Given the description of an element on the screen output the (x, y) to click on. 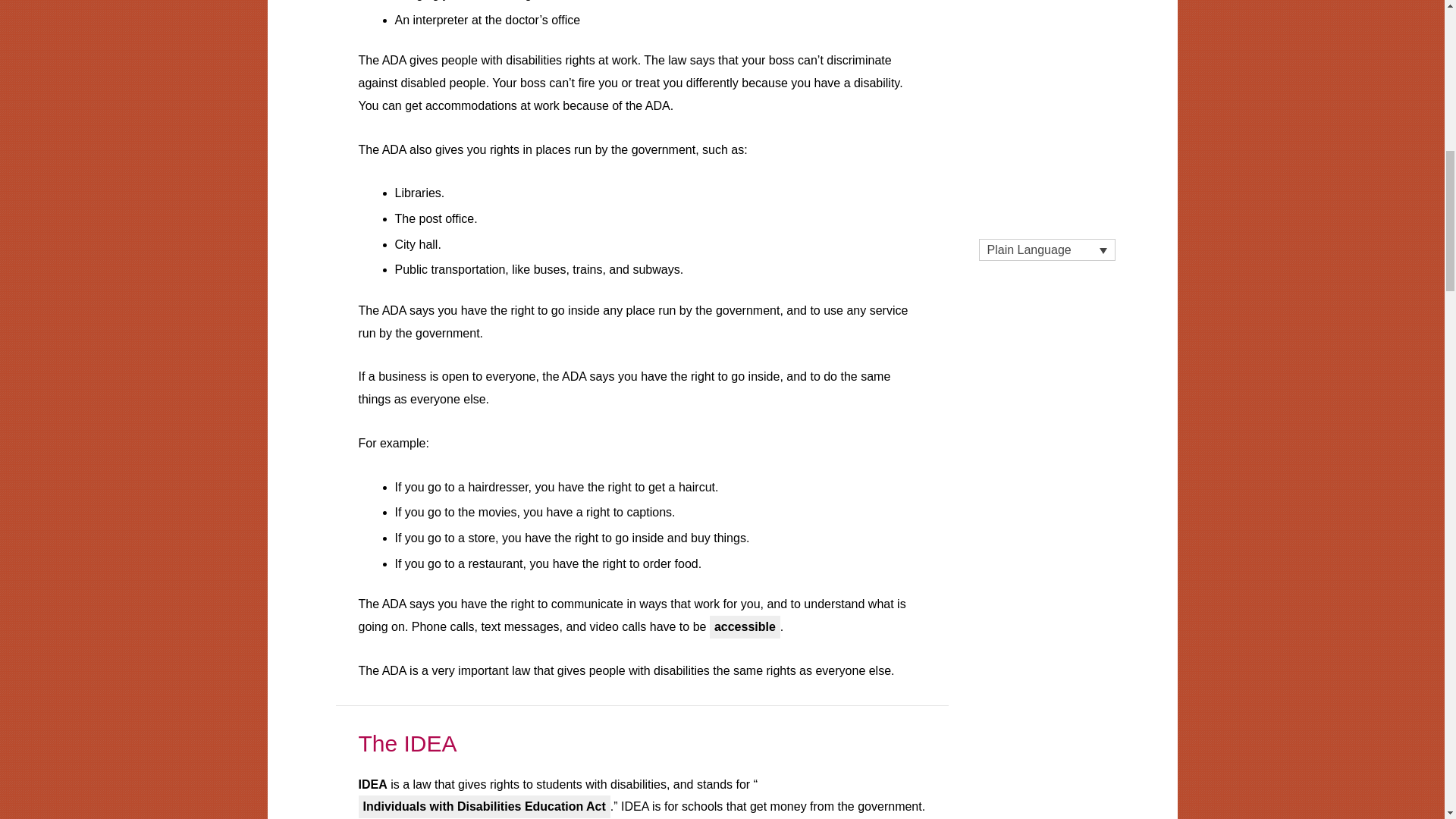
The IDEA (407, 743)
The IDEA (407, 743)
